Given the description of an element on the screen output the (x, y) to click on. 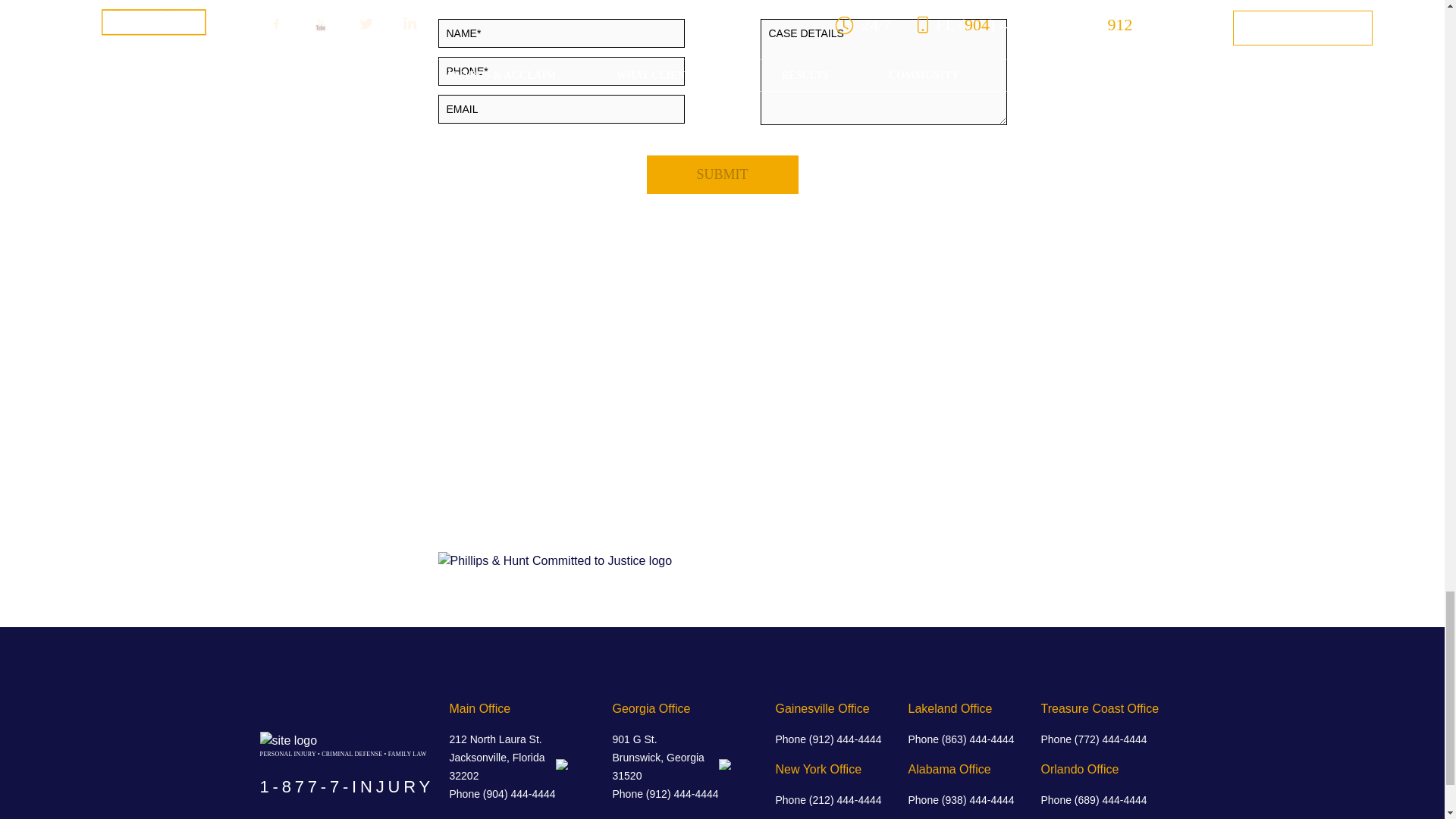
Submit (721, 174)
